Given the description of an element on the screen output the (x, y) to click on. 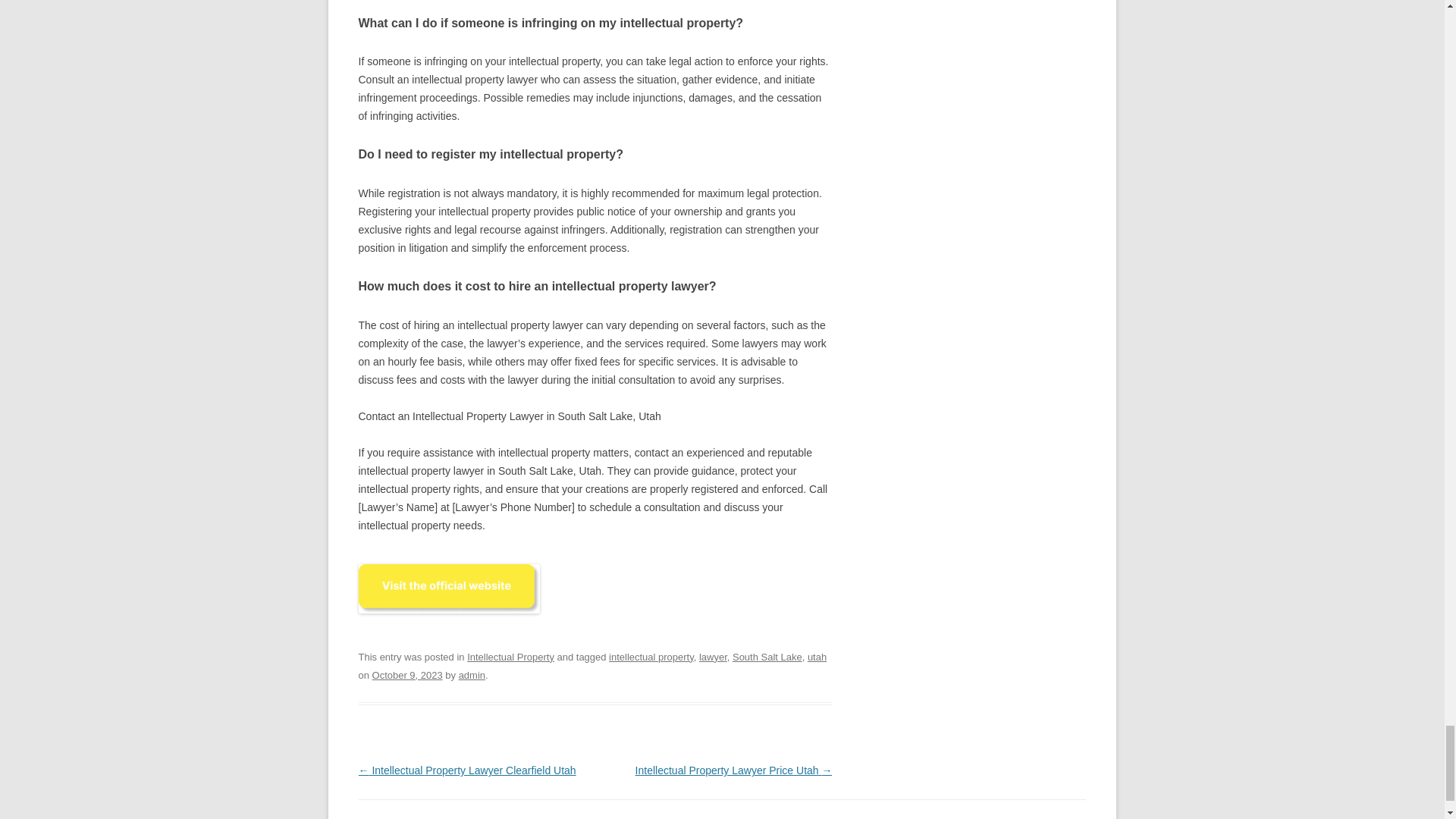
Intellectual Property (510, 656)
intellectual property (651, 656)
utah (817, 656)
4:00 pm (407, 674)
South Salt Lake (767, 656)
admin (471, 674)
lawyer (712, 656)
October 9, 2023 (407, 674)
